Given the description of an element on the screen output the (x, y) to click on. 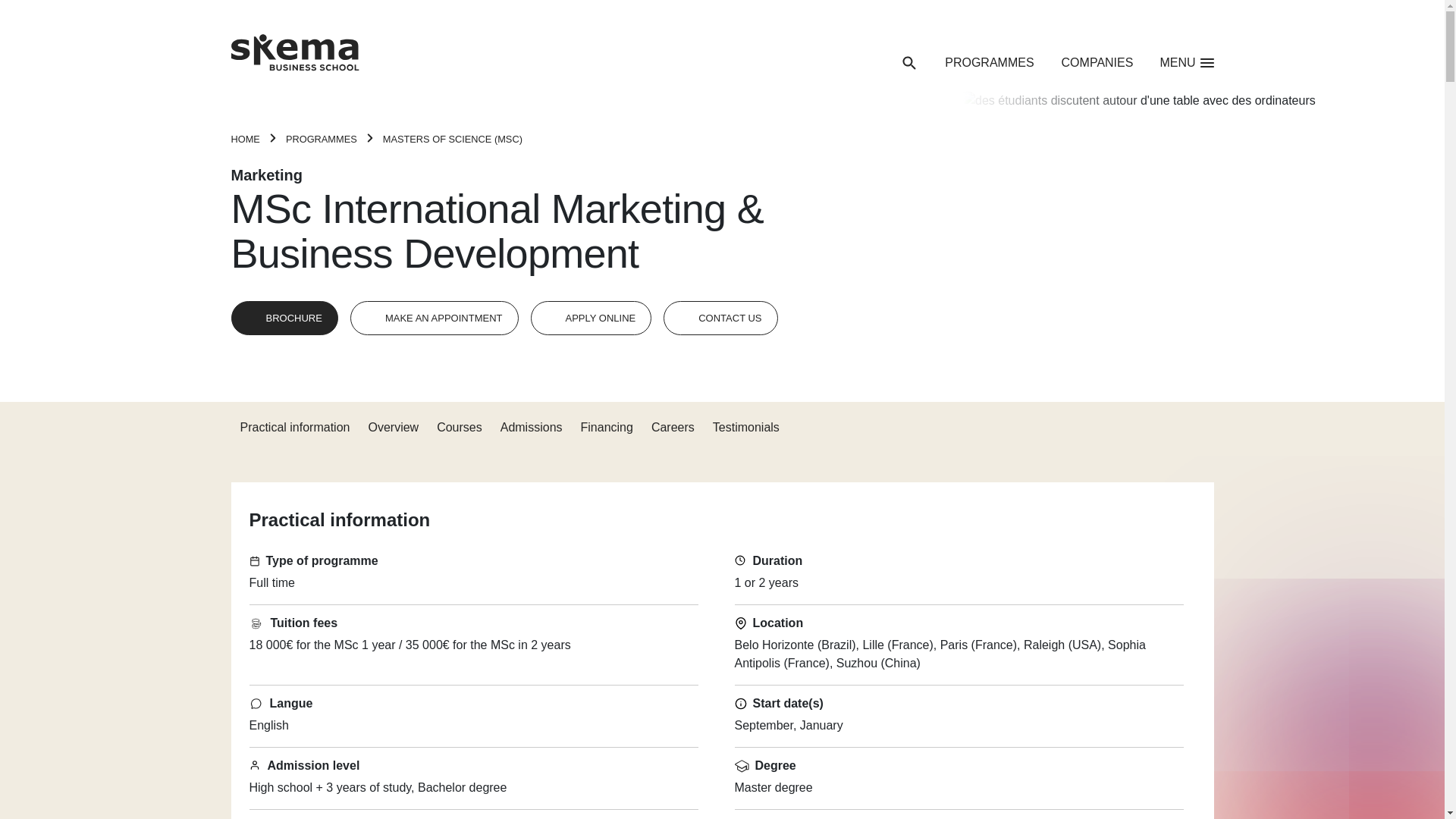
Admissions (531, 427)
MENU (1188, 62)
Courses (458, 427)
Skema Business School - Home (294, 56)
PROGRAMMES (988, 62)
Overview (393, 427)
COMPANIES (1097, 62)
Skip to main content (60, 10)
Practical information (294, 427)
